Given the description of an element on the screen output the (x, y) to click on. 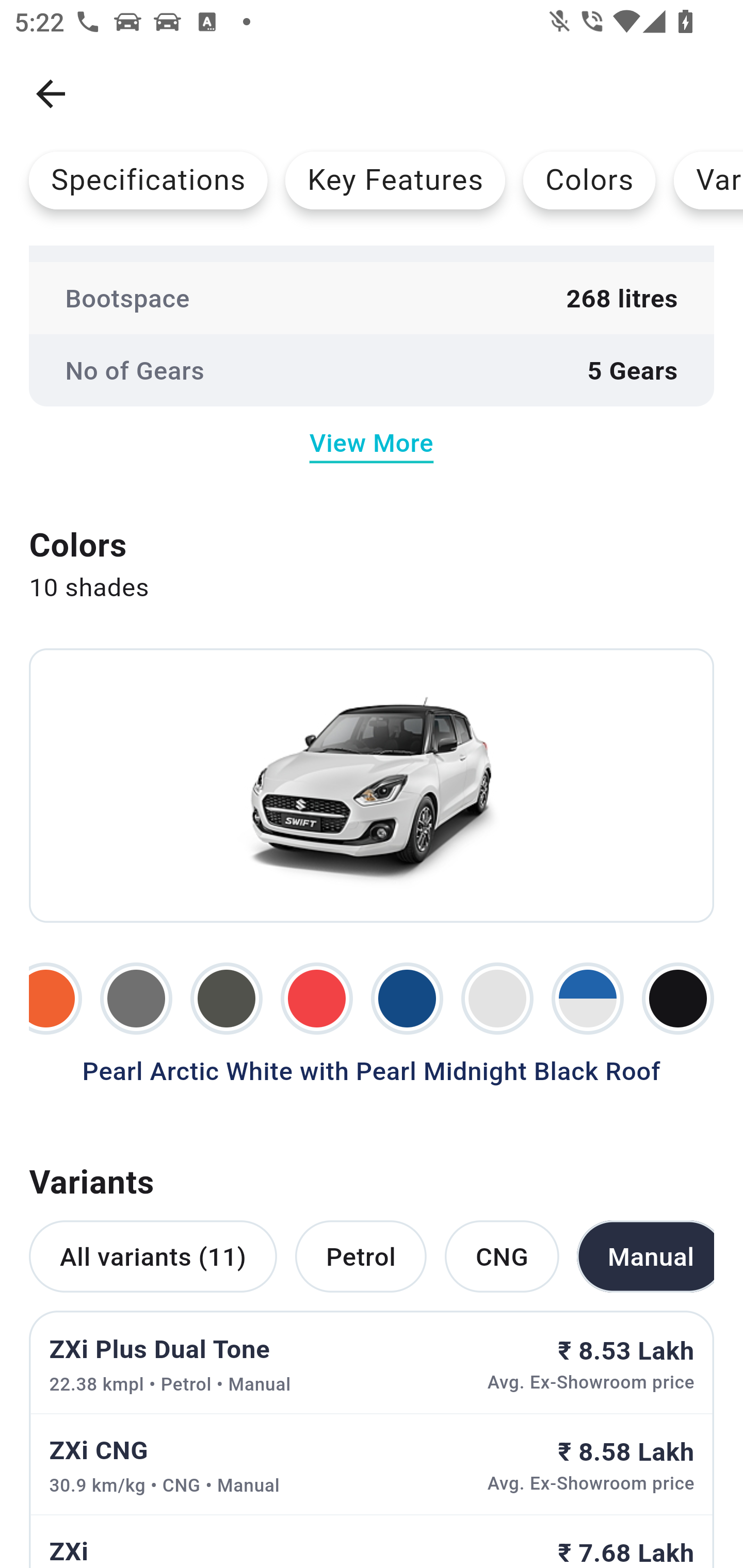
Back (50, 93)
Specifications (147, 180)
Key Features (395, 180)
Colors (589, 180)
All variants (11) (152, 1255)
Petrol (360, 1255)
CNG (501, 1255)
Manual (645, 1255)
ZXi
Avg. Ex-Showroom price ₹ 7.68 Lakh (371, 1541)
